Given the description of an element on the screen output the (x, y) to click on. 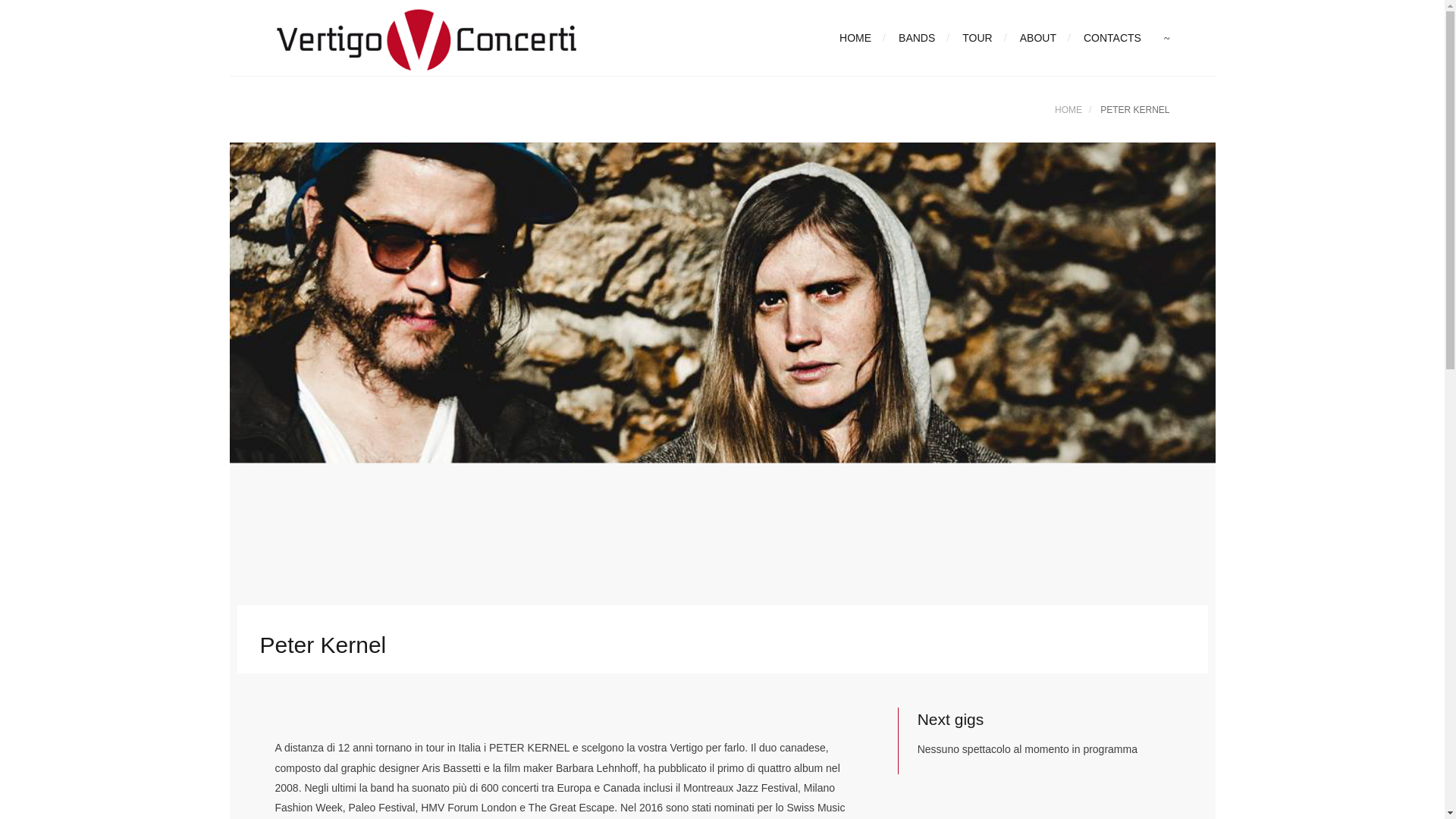
HOME (1067, 109)
CONTACTS (1105, 38)
